Given the description of an element on the screen output the (x, y) to click on. 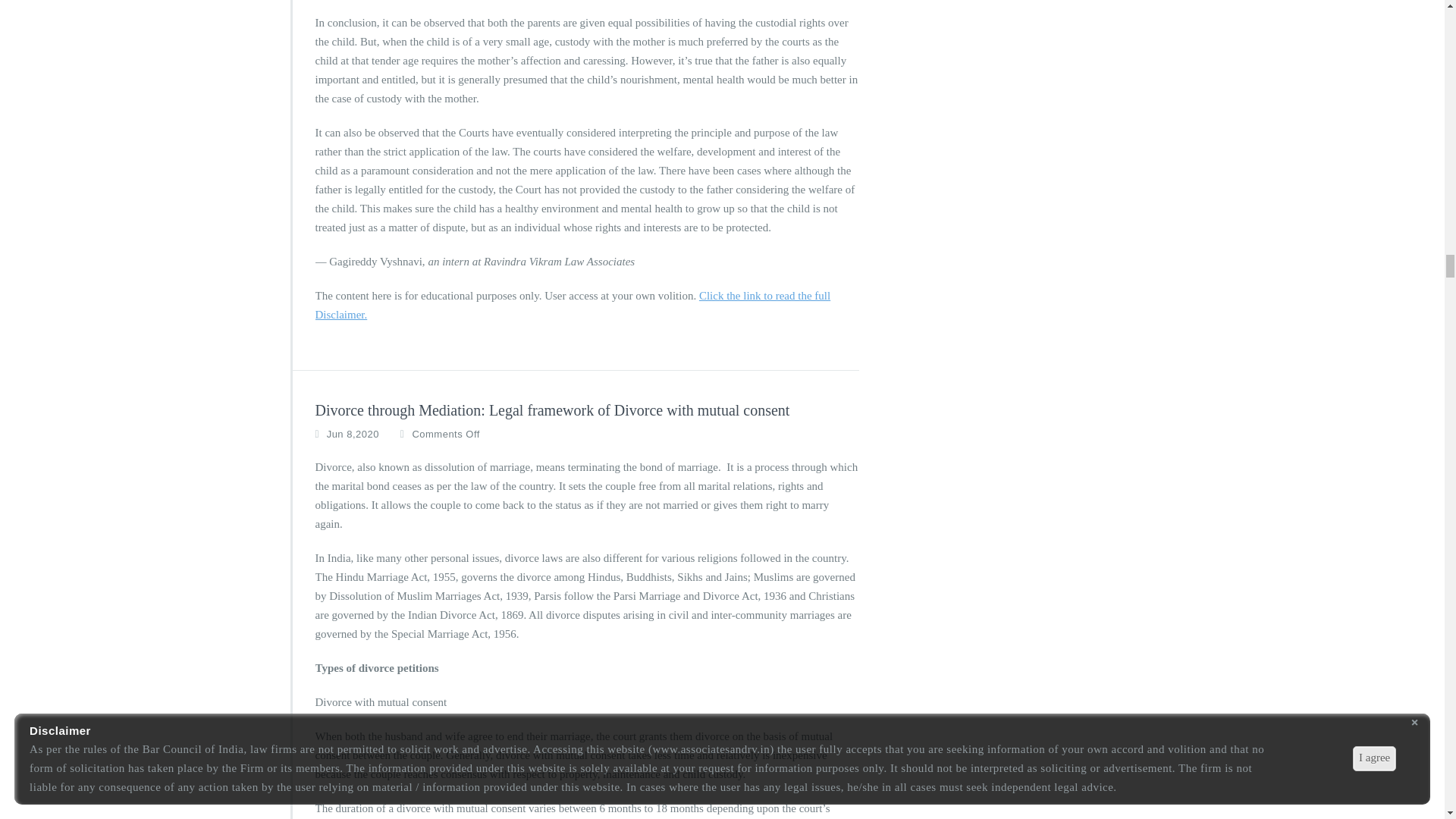
Click the link to read the full Disclaimer. (573, 305)
Jun 8,2020 (352, 434)
